Given the description of an element on the screen output the (x, y) to click on. 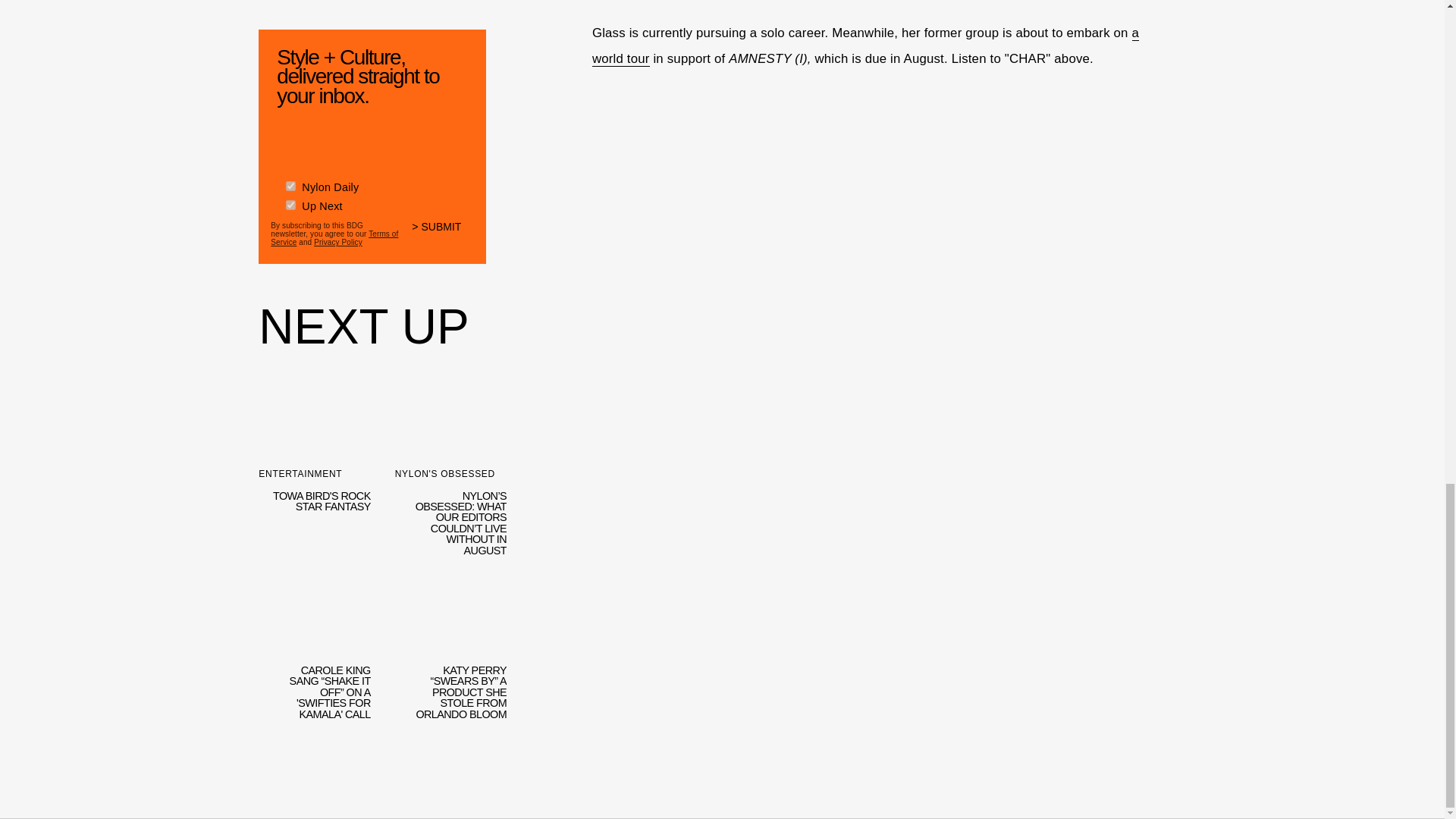
Privacy Policy (338, 242)
a world tour (865, 45)
SUBMIT (443, 236)
Terms of Service (333, 238)
